Given the description of an element on the screen output the (x, y) to click on. 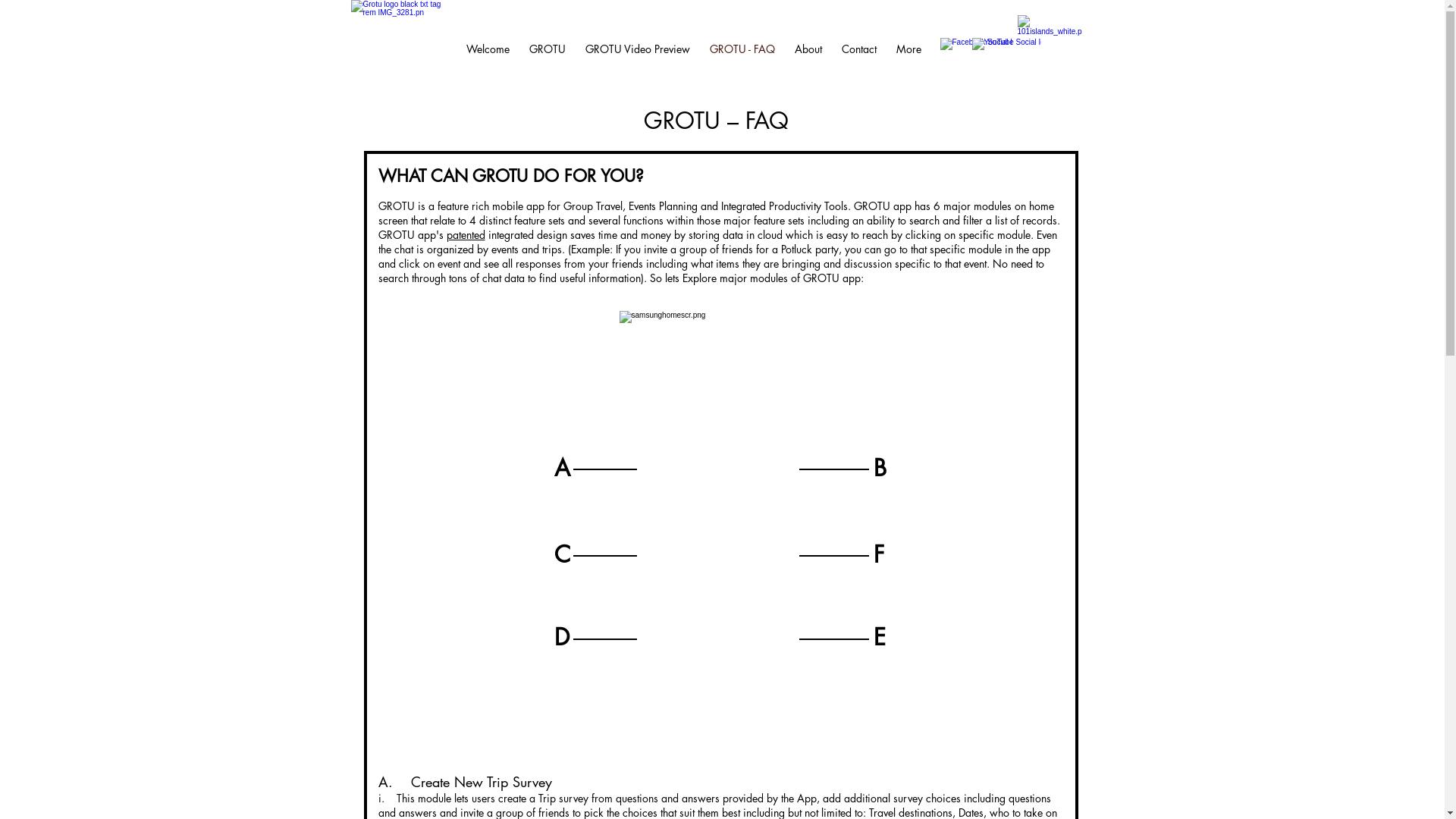
F Element type: text (878, 554)
A Element type: text (561, 468)
C Element type: text (561, 554)
GROTU - FAQ Element type: text (741, 48)
GROTU Element type: text (546, 48)
D Element type: text (560, 637)
GROTU Video Preview Element type: text (636, 48)
B Element type: text (879, 468)
E Element type: text (879, 637)
About Element type: text (807, 48)
Welcome Element type: text (487, 48)
Contact Element type: text (858, 48)
patented Element type: text (464, 234)
